Given the description of an element on the screen output the (x, y) to click on. 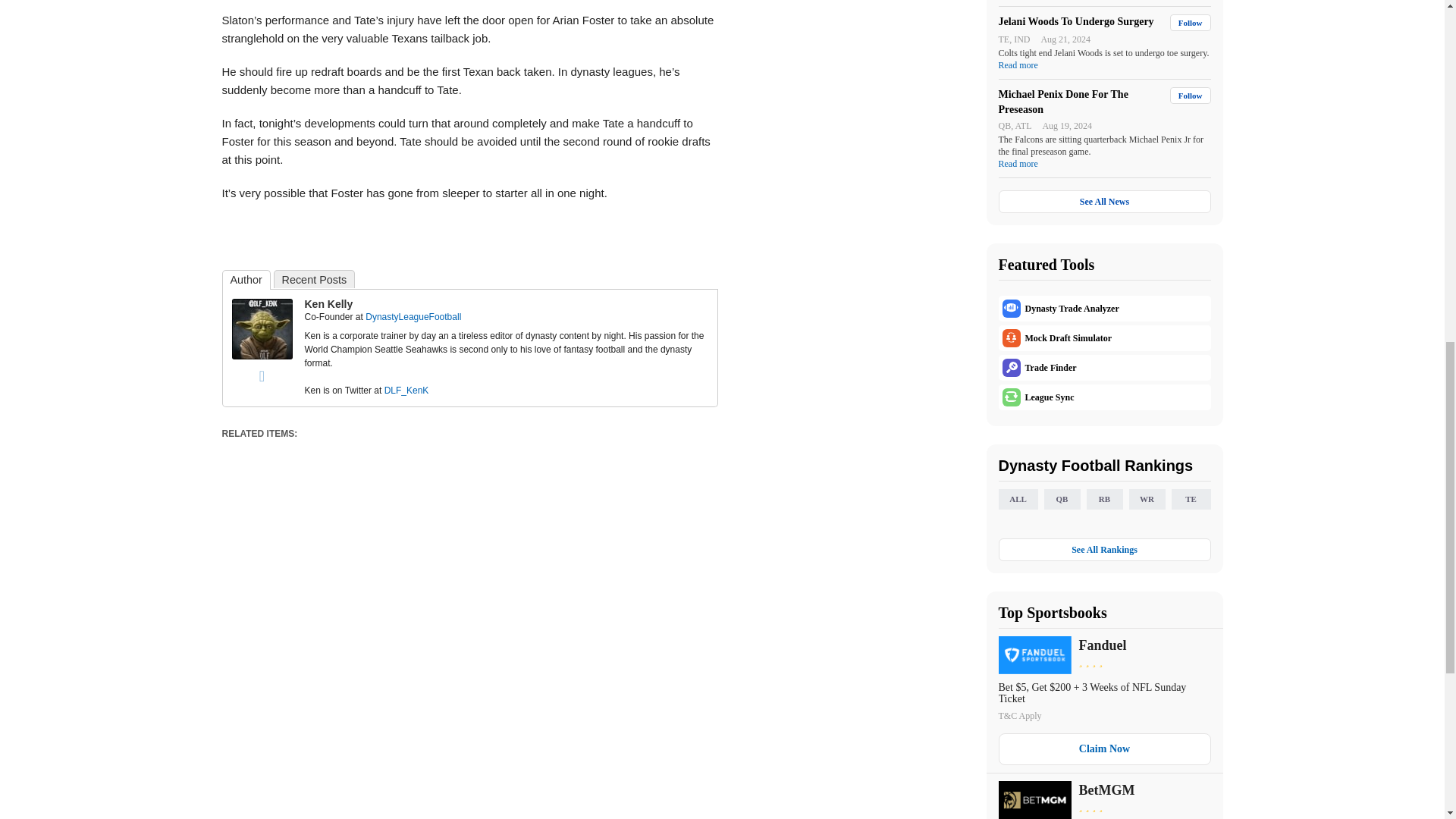
Ken Kelly (261, 355)
Power play 1 (261, 328)
Twitter (261, 375)
